Given the description of an element on the screen output the (x, y) to click on. 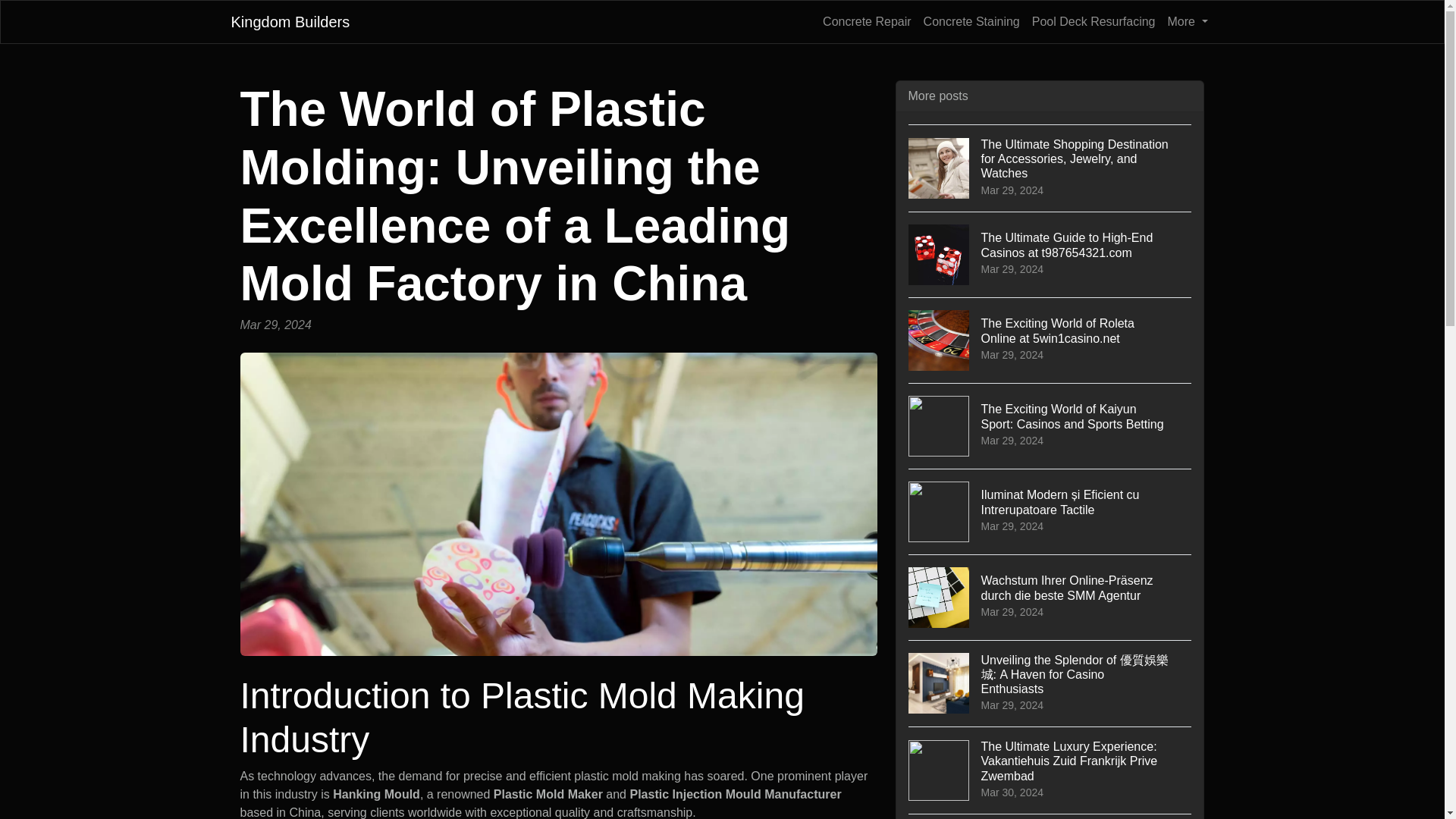
More (1187, 21)
Concrete Staining (971, 21)
Kingdom Builders (289, 21)
Pool Deck Resurfacing (1093, 21)
Concrete Repair (866, 21)
